Given the description of an element on the screen output the (x, y) to click on. 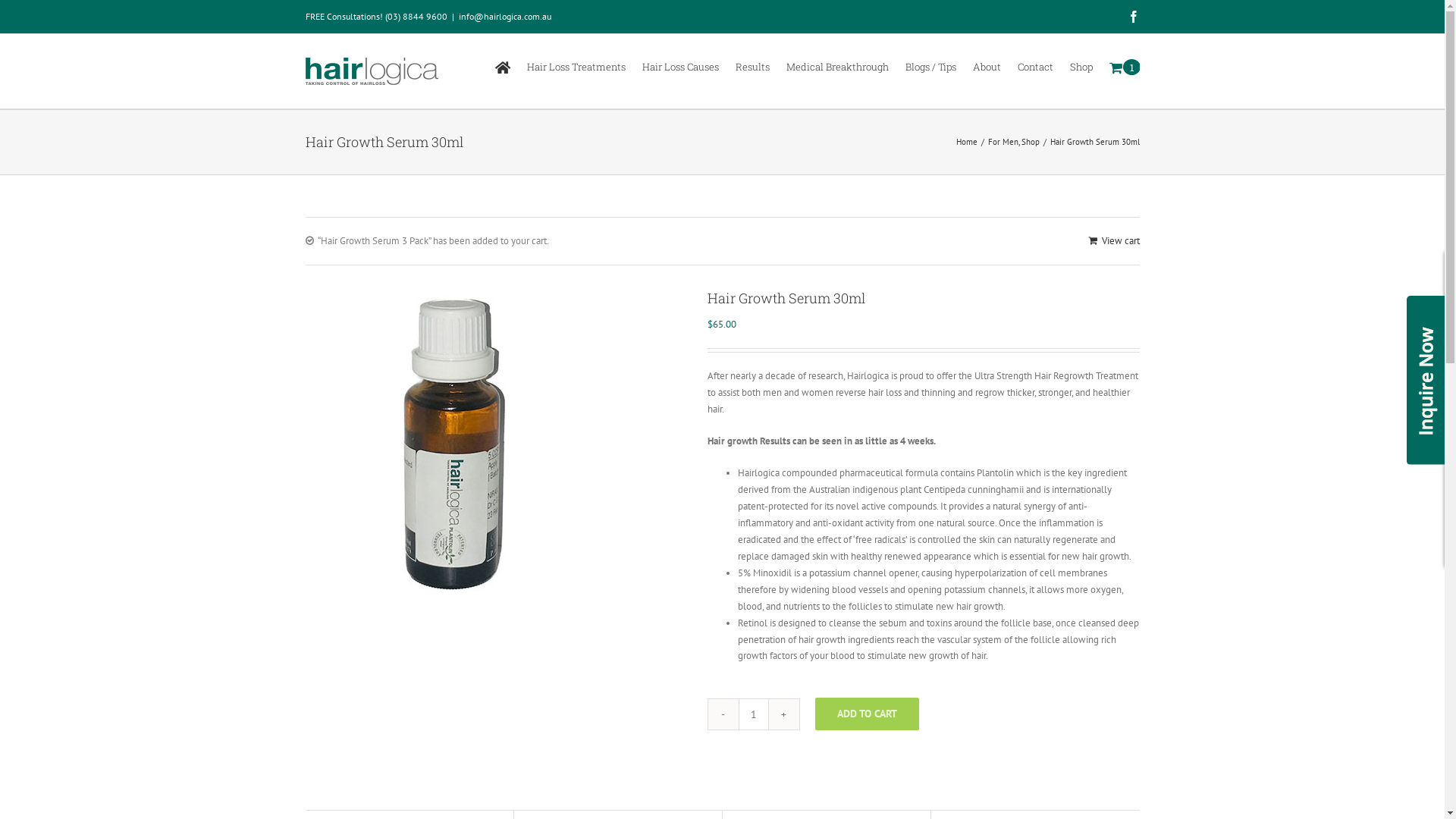
Contact Element type: text (1035, 65)
Serum Element type: hover (494, 439)
1 Element type: text (1115, 65)
Hair Loss Causes Element type: text (679, 65)
Shop Element type: text (1029, 141)
About Element type: text (986, 65)
Shop Element type: text (1080, 65)
For Men Element type: text (1002, 141)
Blogs / Tips Element type: text (930, 65)
ADD TO CART Element type: text (866, 713)
Serum Element type: hover (456, 439)
View cart Element type: text (1113, 240)
Hair Loss Treatments Element type: text (575, 65)
Medical Breakthrough Element type: text (836, 65)
(03) 8844 9600 Element type: text (416, 15)
Facebook Element type: text (1132, 16)
info@hairlogica.com.au Element type: text (504, 15)
Home Element type: text (965, 141)
Results Element type: text (752, 65)
